Given the description of an element on the screen output the (x, y) to click on. 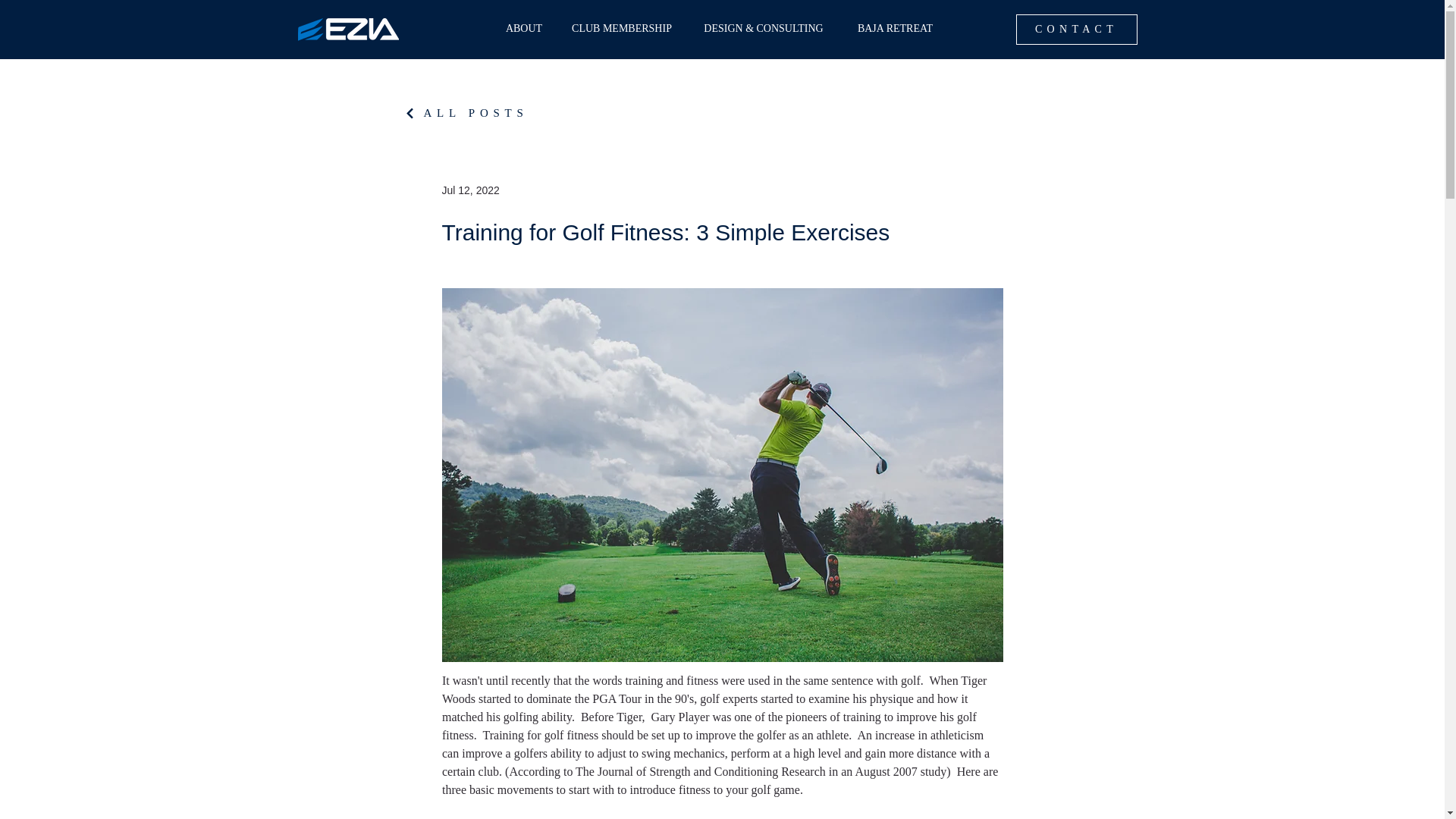
Jul 12, 2022 (470, 189)
CONTACT (1076, 29)
BAJA RETREAT (895, 28)
ABOUT (524, 28)
ALL POSTS (466, 112)
